Given the description of an element on the screen output the (x, y) to click on. 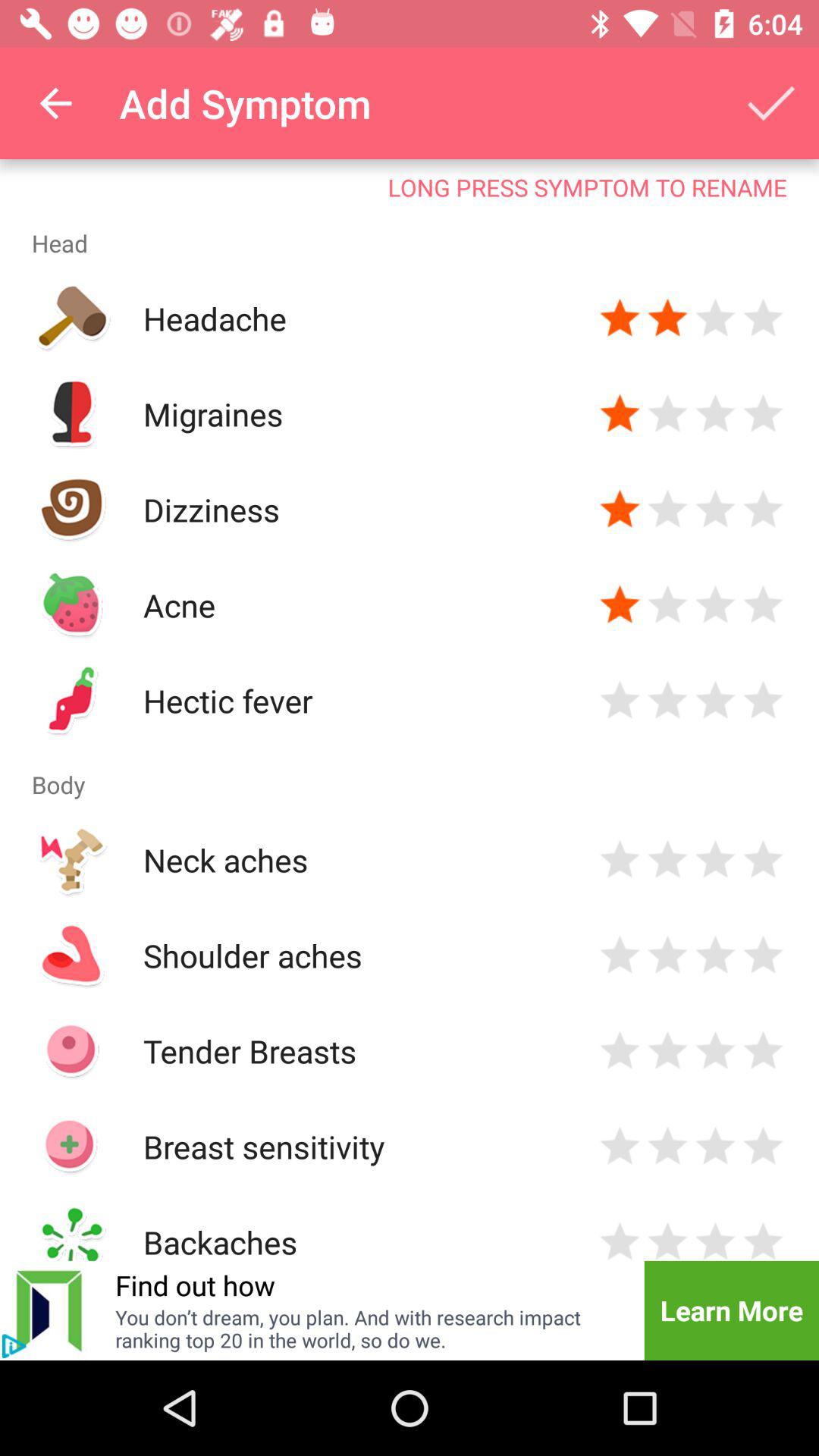
indicate severity of symptom (667, 1239)
